Given the description of an element on the screen output the (x, y) to click on. 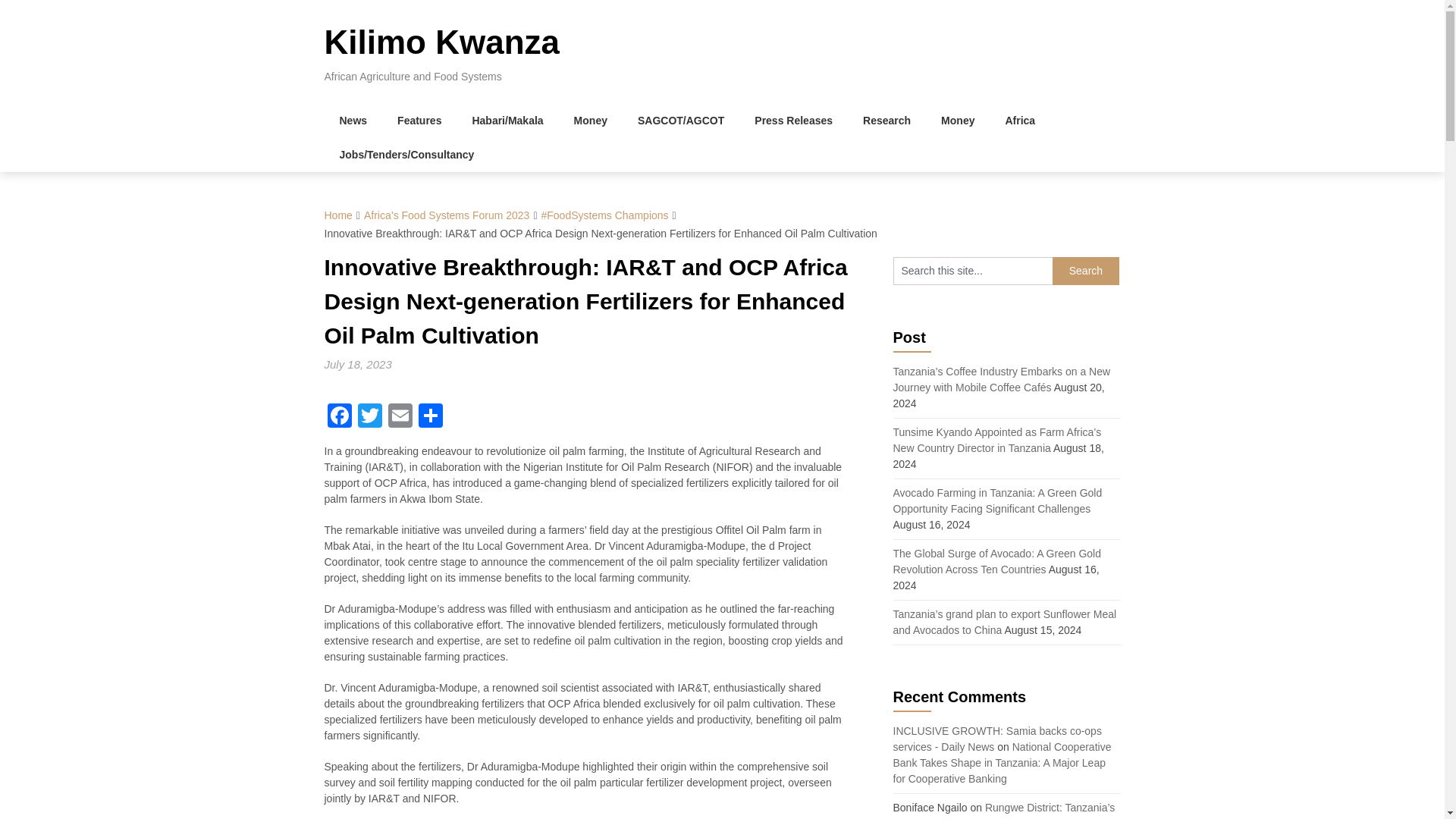
Press Releases (793, 121)
Africa (1019, 121)
Facebook (339, 417)
Twitter (370, 417)
Money (958, 121)
Search (1085, 271)
Email (399, 417)
News (353, 121)
Twitter (370, 417)
